Given the description of an element on the screen output the (x, y) to click on. 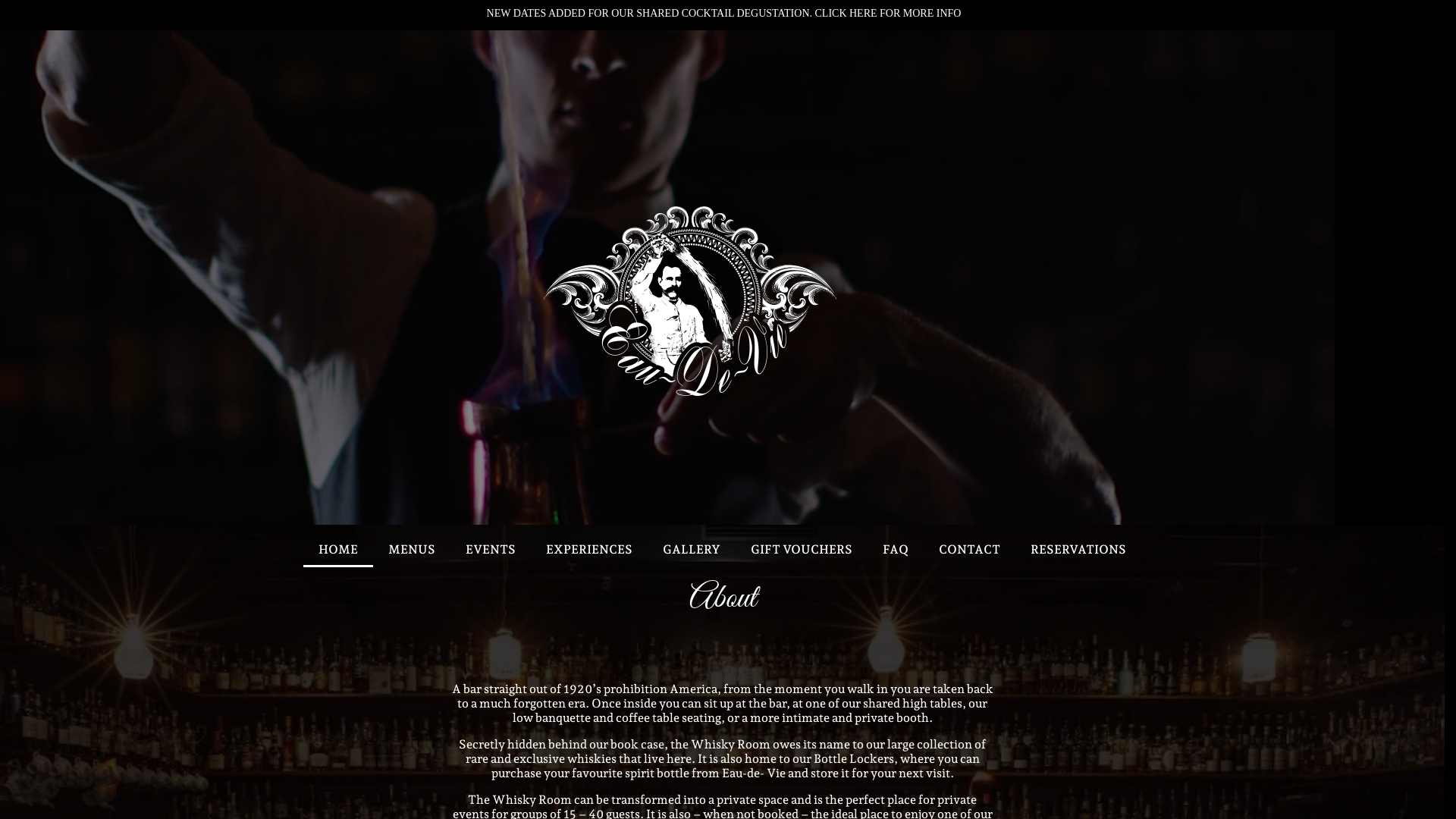
GIFT VOUCHERS Element type: text (801, 549)
EVENTS Element type: text (490, 549)
HOME Element type: text (338, 549)
MENUS Element type: text (411, 549)
FAQ Element type: text (895, 549)
EXPERIENCES Element type: text (588, 549)
CONTACT Element type: text (969, 549)
RESERVATIONS Element type: text (1078, 549)
GALLERY Element type: text (691, 549)
